Given the description of an element on the screen output the (x, y) to click on. 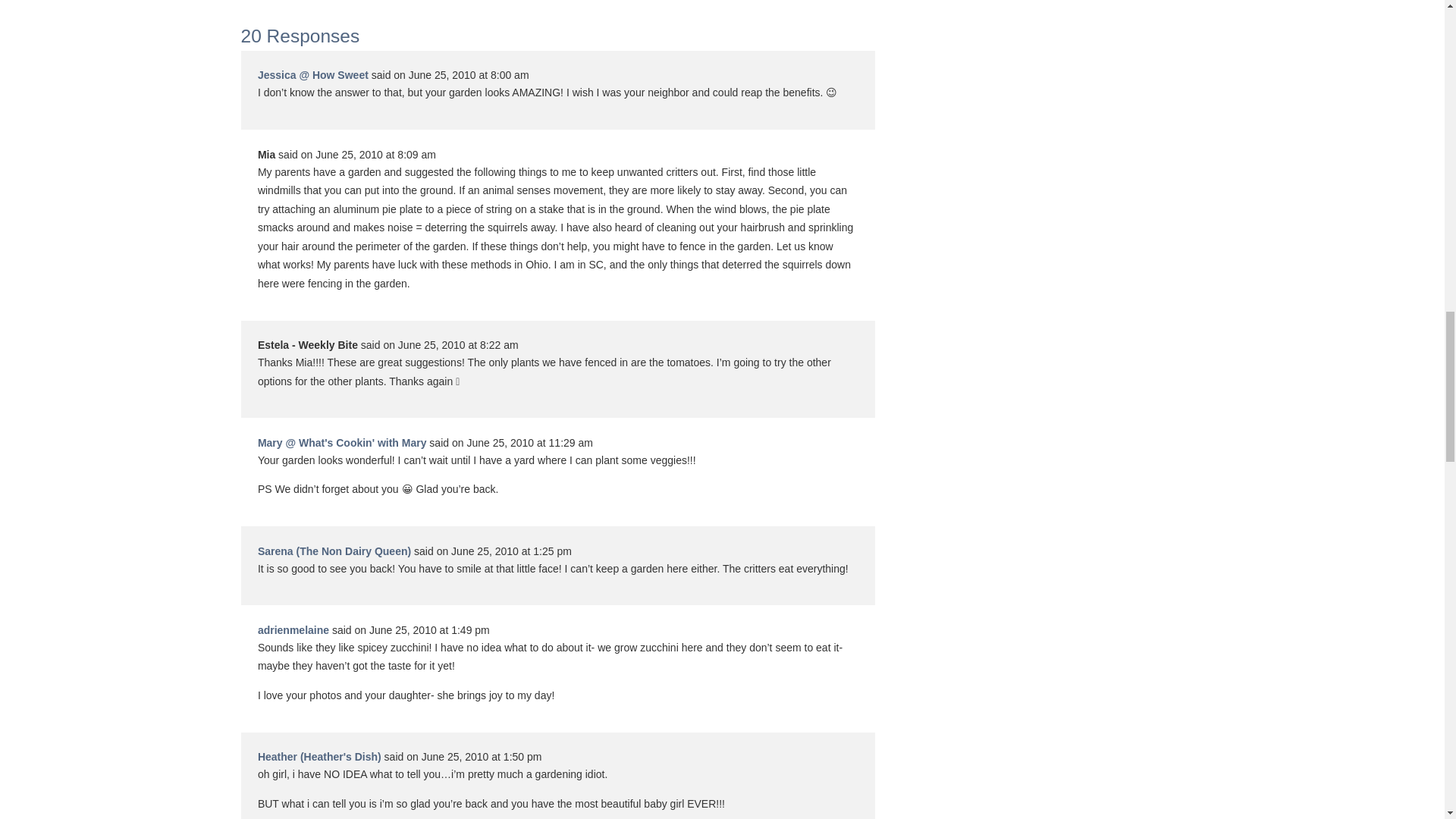
adrienmelaine (293, 630)
